Given the description of an element on the screen output the (x, y) to click on. 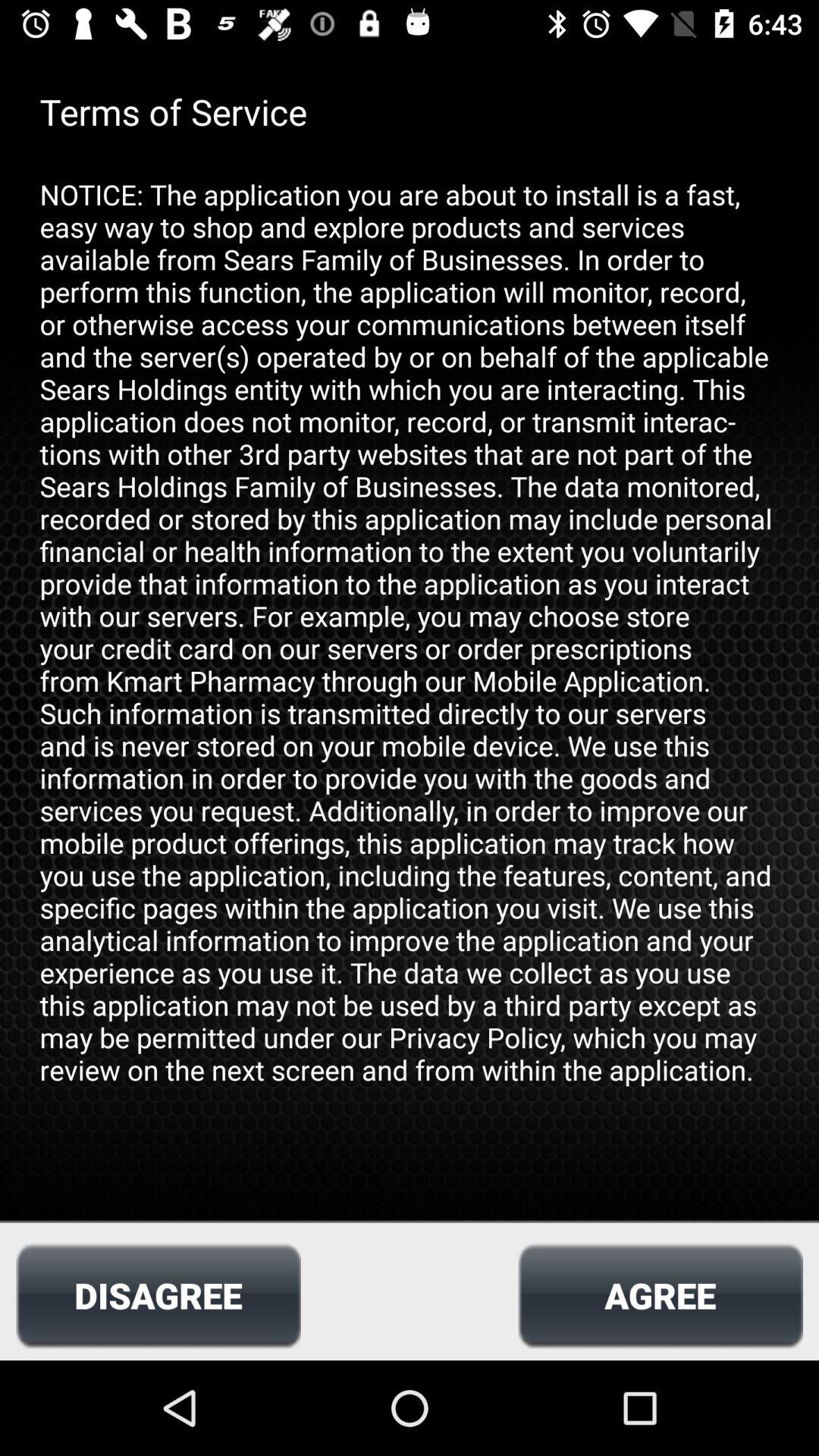
launch item to the left of agree icon (157, 1295)
